Given the description of an element on the screen output the (x, y) to click on. 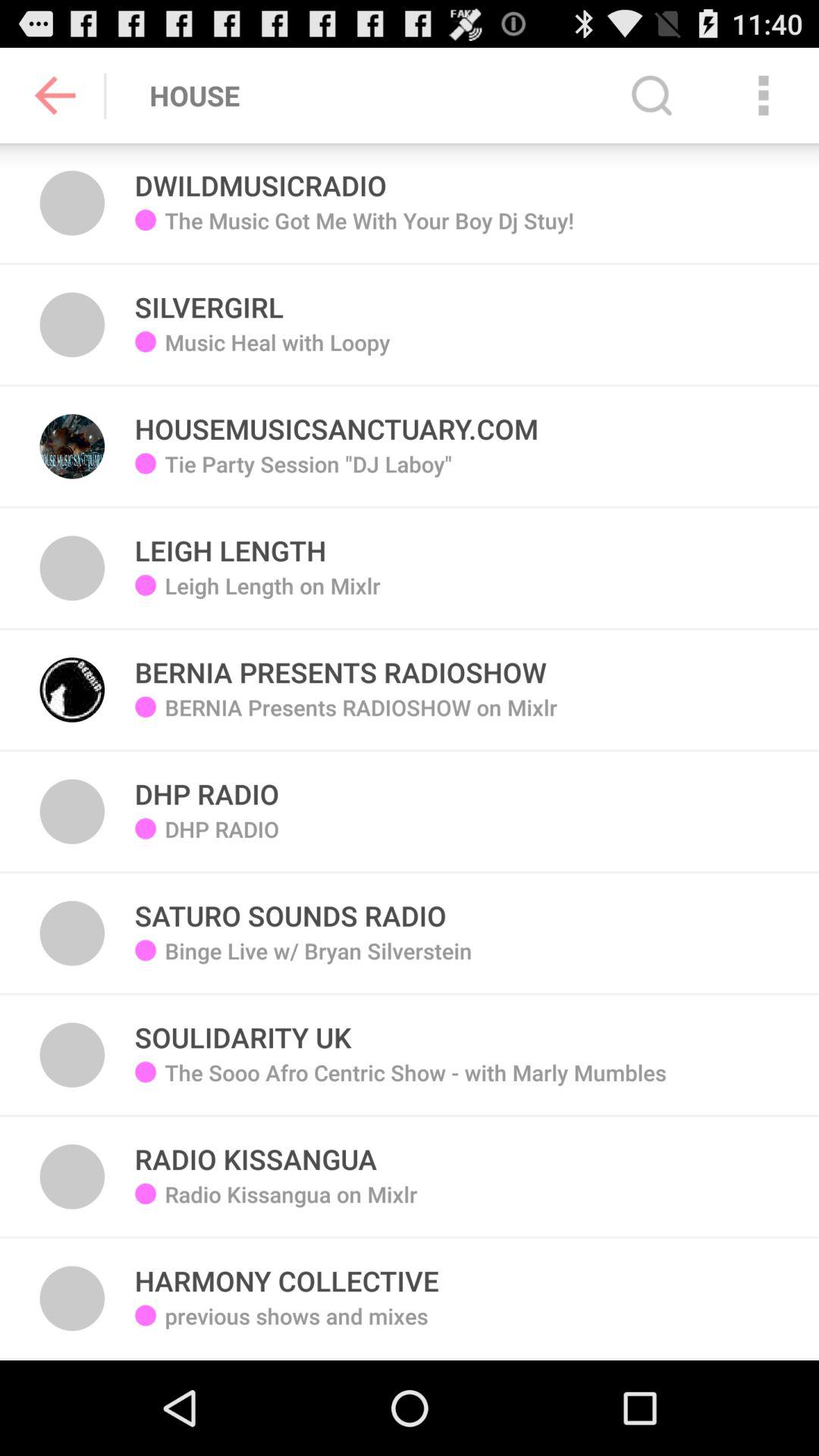
turn on item next to dwildmusicradio item (651, 95)
